Given the description of an element on the screen output the (x, y) to click on. 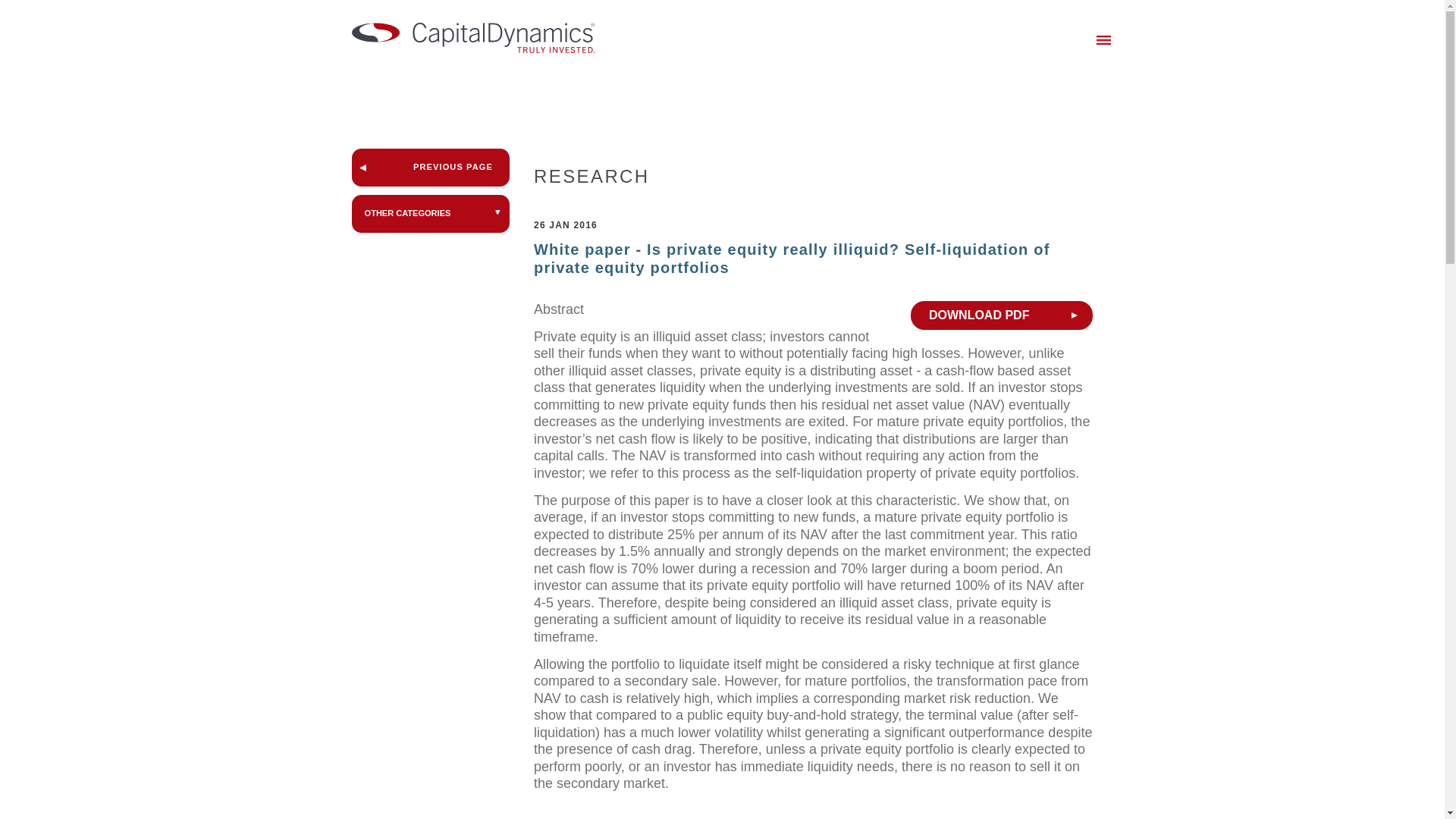
OTHER CATEGORIES (430, 213)
DOWNLOAD PDF (1002, 315)
PREVIOUS PAGE (430, 167)
